Given the description of an element on the screen output the (x, y) to click on. 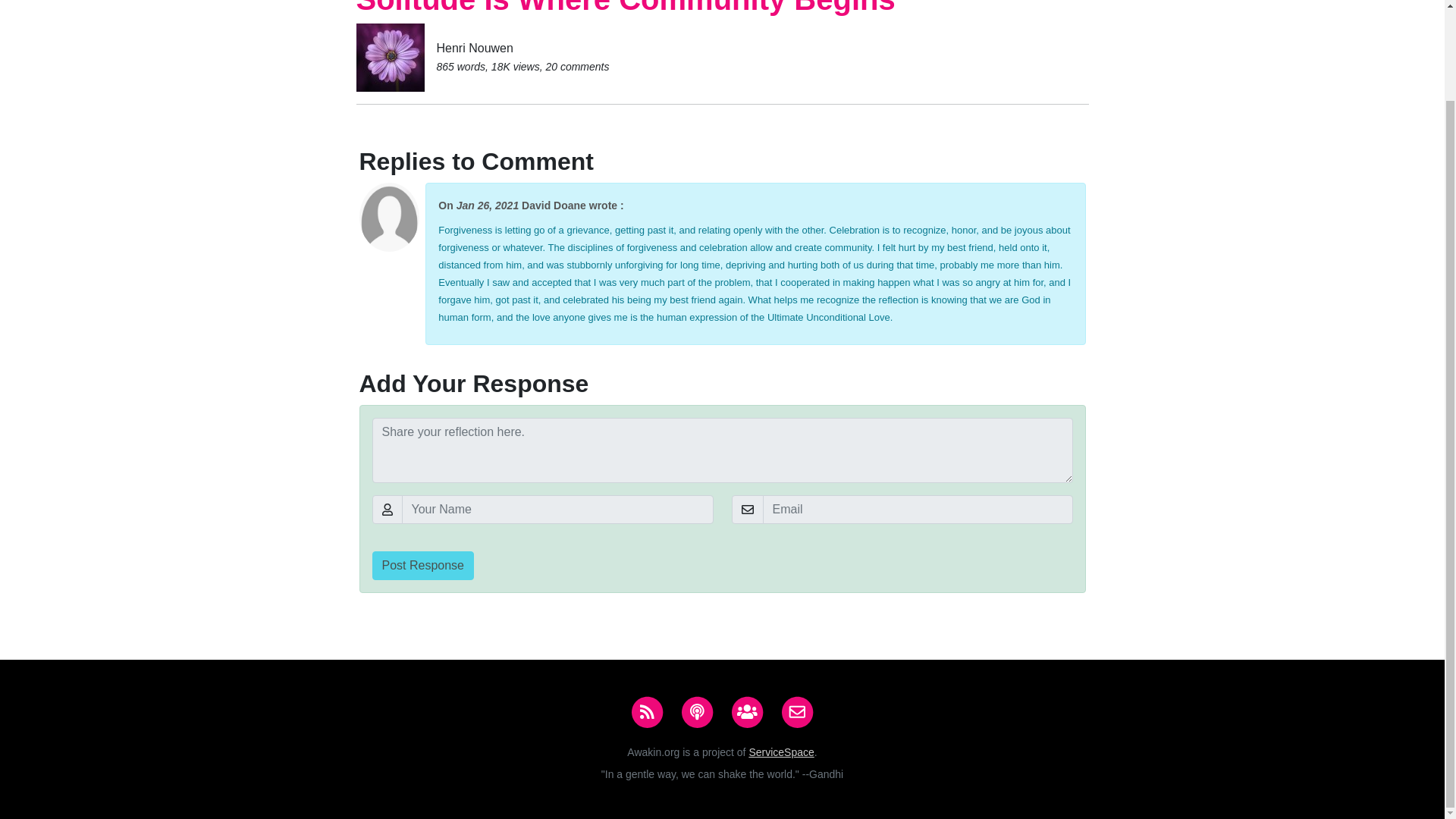
Post Response (422, 565)
ServiceSpace (780, 752)
Solitude Is Where Community Begins (625, 7)
